Given the description of an element on the screen output the (x, y) to click on. 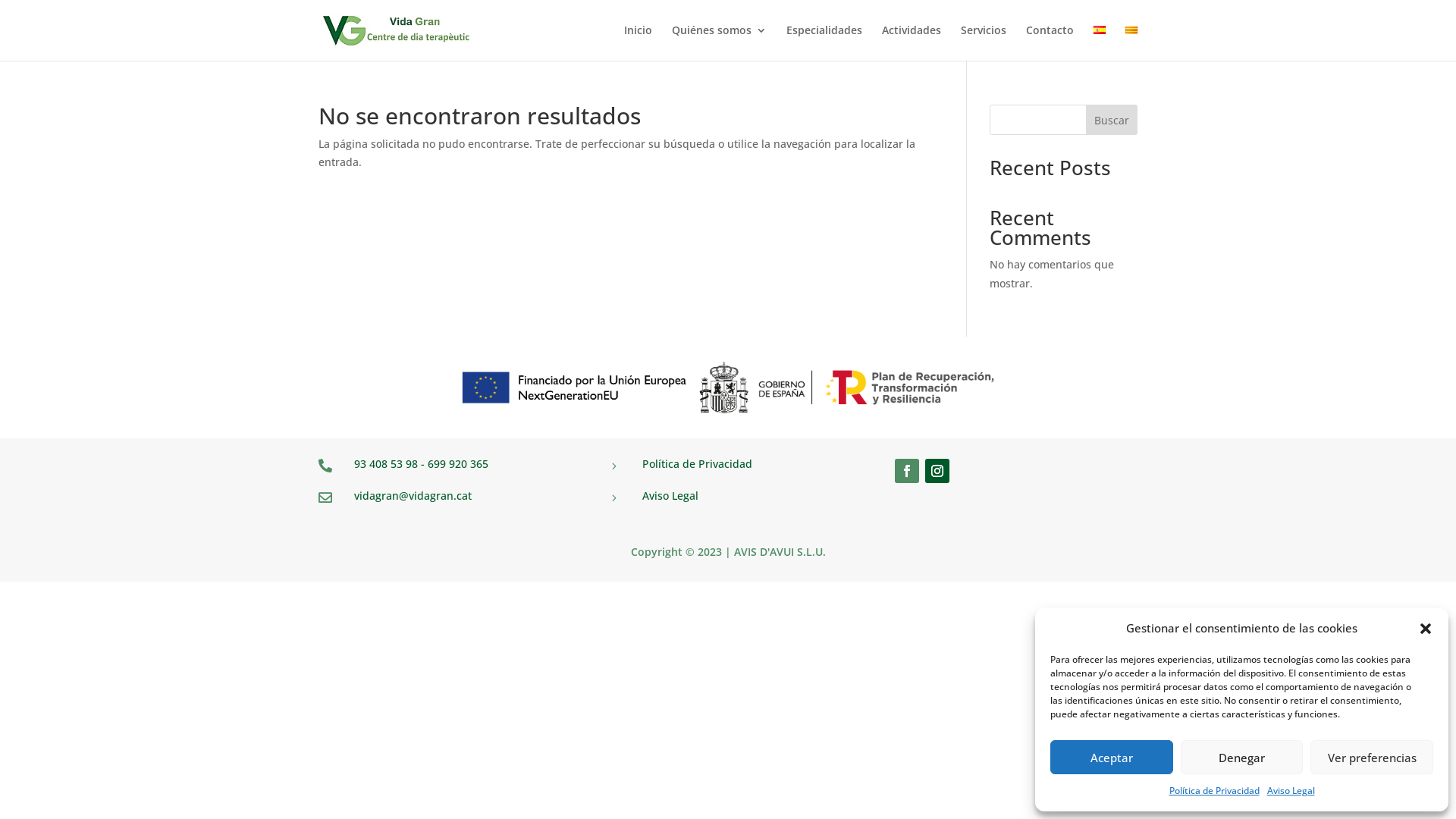
Servicios Element type: text (983, 42)
Especialidades Element type: text (824, 42)
Seguir en Facebook Element type: hover (906, 470)
Ver preferencias Element type: text (1371, 757)
Buscar Element type: text (1111, 119)
Denegar Element type: text (1241, 757)
Contacto Element type: text (1049, 42)
Inicio Element type: text (638, 42)
Seguir en Instagram Element type: hover (937, 470)
Aviso Legal Element type: text (1290, 790)
Actividades Element type: text (911, 42)
Logo-Plan-Recuperacion Element type: hover (727, 387)
Aceptar Element type: text (1111, 757)
